Given the description of an element on the screen output the (x, y) to click on. 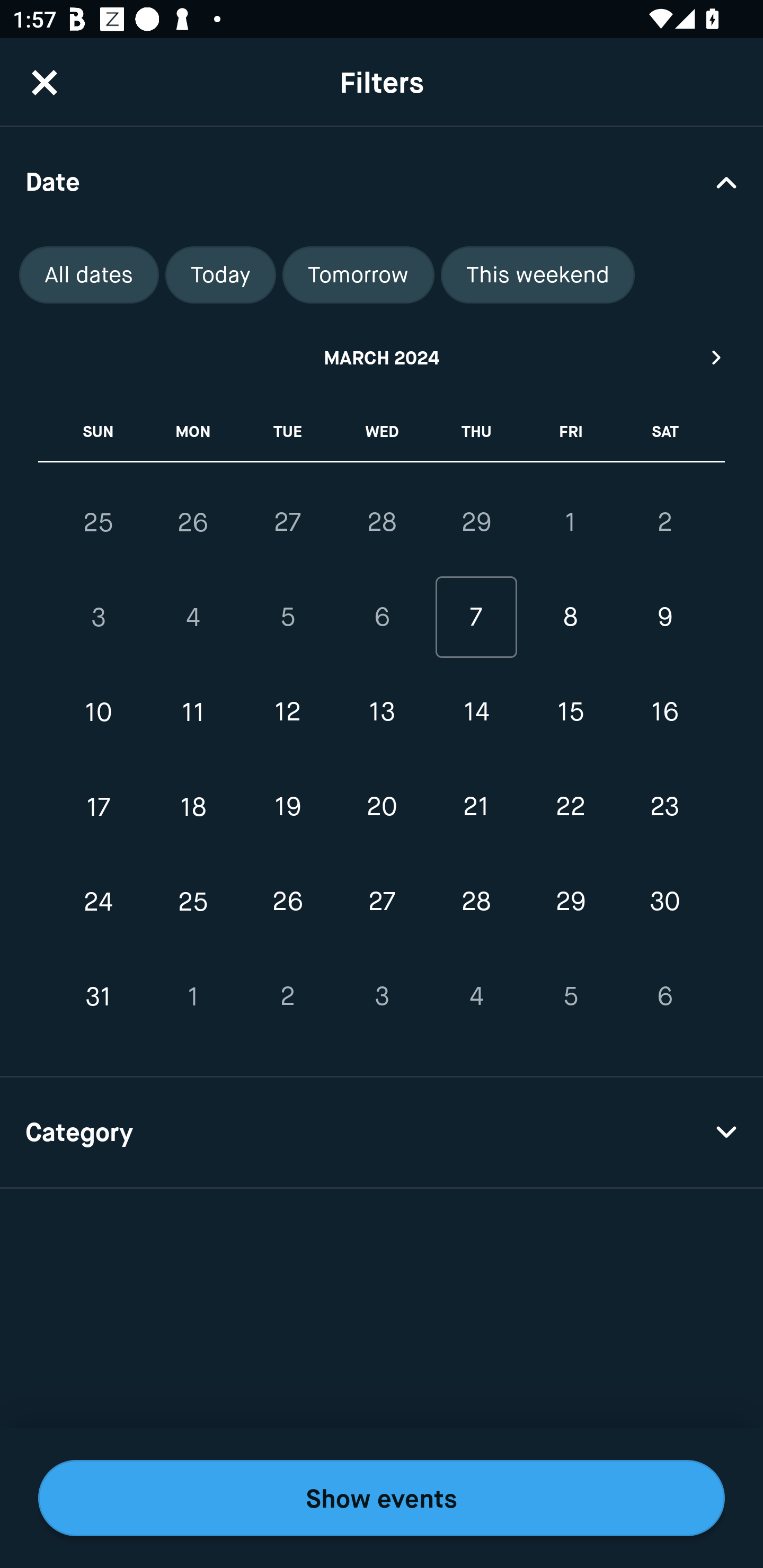
CloseButton (44, 82)
Date Drop Down Arrow (381, 181)
All dates (88, 274)
Today (220, 274)
Tomorrow (358, 274)
This weekend (537, 274)
Next (717, 357)
25 (98, 522)
26 (192, 522)
27 (287, 522)
28 (381, 522)
29 (475, 522)
1 (570, 522)
2 (664, 522)
3 (98, 617)
4 (192, 617)
5 (287, 617)
6 (381, 617)
7 (475, 617)
8 (570, 617)
9 (664, 617)
10 (98, 711)
11 (192, 711)
12 (287, 711)
13 (381, 711)
14 (475, 711)
15 (570, 711)
16 (664, 711)
17 (98, 806)
18 (192, 806)
19 (287, 806)
20 (381, 806)
21 (475, 806)
22 (570, 806)
23 (664, 806)
24 (98, 901)
25 (192, 901)
26 (287, 901)
27 (381, 901)
28 (475, 901)
29 (570, 901)
30 (664, 901)
31 (98, 996)
1 (192, 996)
2 (287, 996)
3 (381, 996)
4 (475, 996)
5 (570, 996)
6 (664, 996)
Category Drop Down Arrow (381, 1132)
Show events (381, 1497)
